Given the description of an element on the screen output the (x, y) to click on. 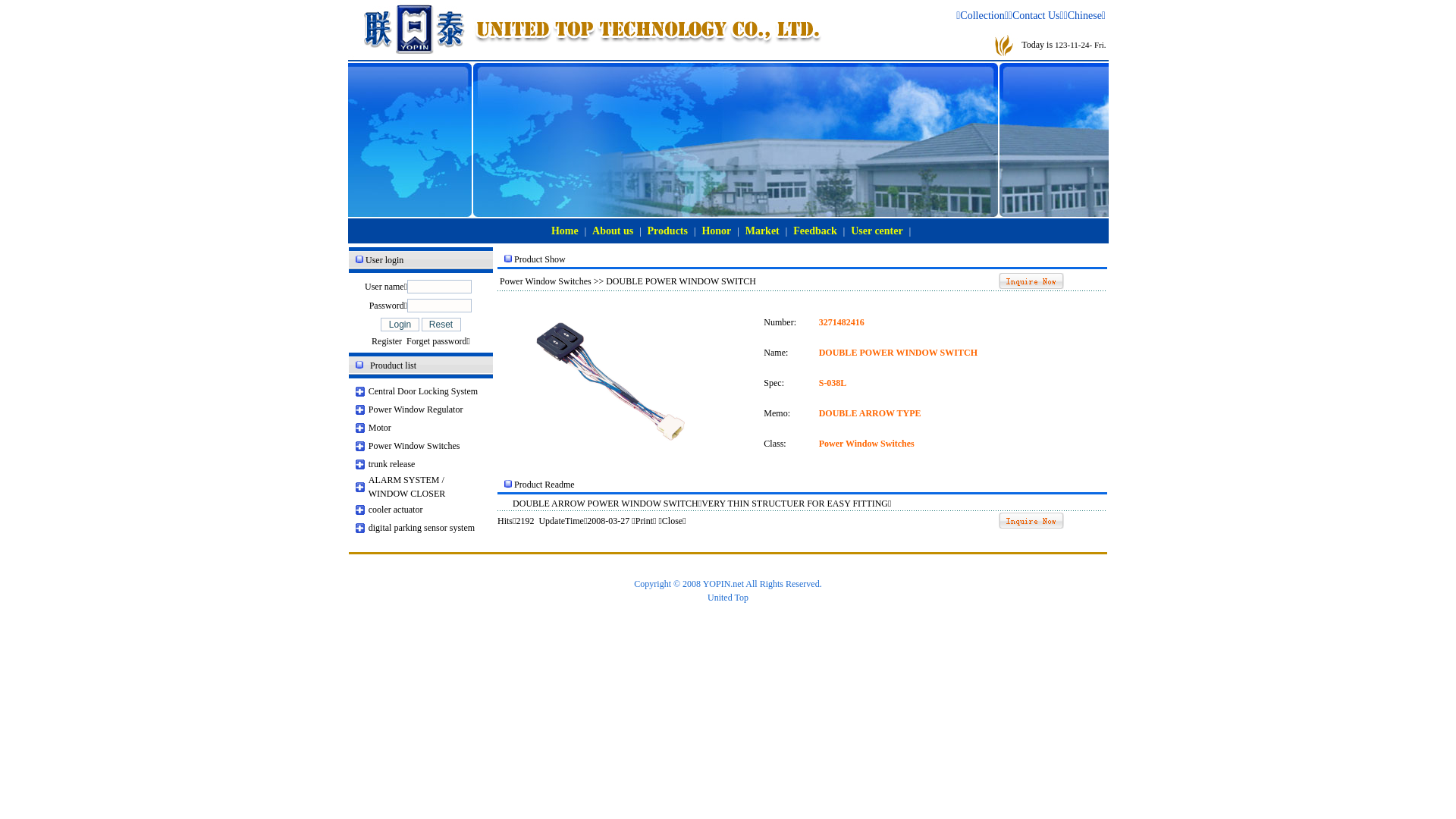
| Element type: text (694, 230)
cooler actuator Element type: text (395, 509)
Market Element type: text (762, 230)
Honor Element type: text (715, 230)
trunk release Element type: text (391, 463)
digital parking sensor system Element type: text (421, 527)
| Element type: text (639, 230)
User center Element type: text (876, 230)
Feedback Element type: text (814, 230)
| Element type: text (737, 230)
About us Element type: text (612, 230)
Products Element type: text (667, 230)
Power Window Switches Element type: text (414, 445)
Close Element type: text (672, 520)
Central Door Locking System Element type: text (422, 390)
Power Window Switches Element type: text (545, 281)
Home Element type: text (564, 230)
Motor Element type: text (379, 427)
Power Window Regulator Element type: text (415, 409)
Print Element type: text (643, 520)
 Login  Element type: text (399, 323)
Register Element type: text (386, 340)
| Element type: text (843, 230)
| Element type: text (786, 230)
| Element type: text (909, 230)
| Element type: text (585, 230)
ALARM SYSTEM / WINDOW CLOSER Element type: text (406, 486)
